Given the description of an element on the screen output the (x, y) to click on. 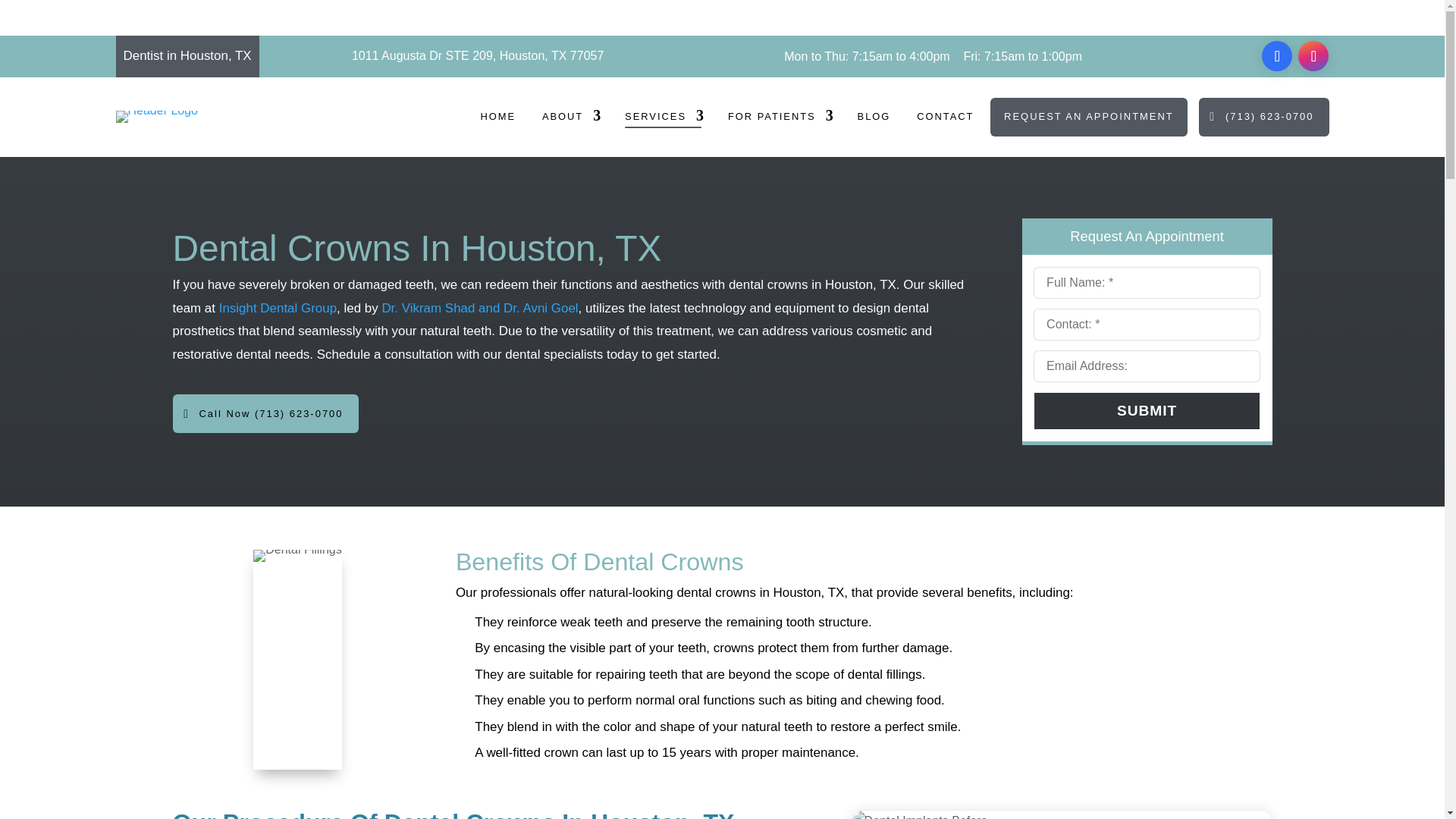
SERVICES (662, 119)
FOR PATIENTS (779, 119)
ABOUT (569, 119)
HOME (497, 119)
Follow on Instagram (1312, 55)
Follow on Facebook (1277, 55)
Submit (1146, 411)
